Given the description of an element on the screen output the (x, y) to click on. 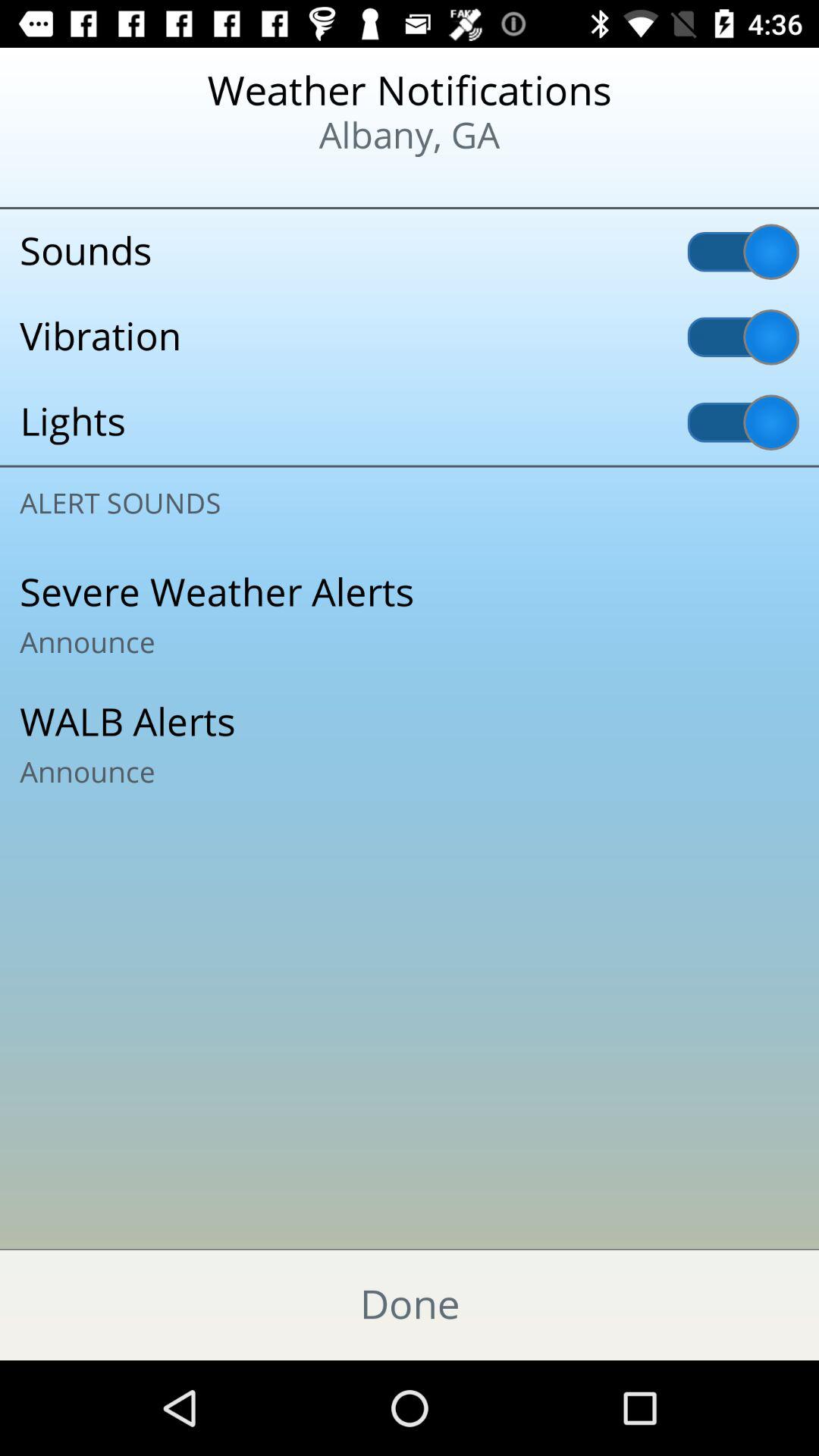
select the two lines text which is on the top of the page (409, 114)
